Given the description of an element on the screen output the (x, y) to click on. 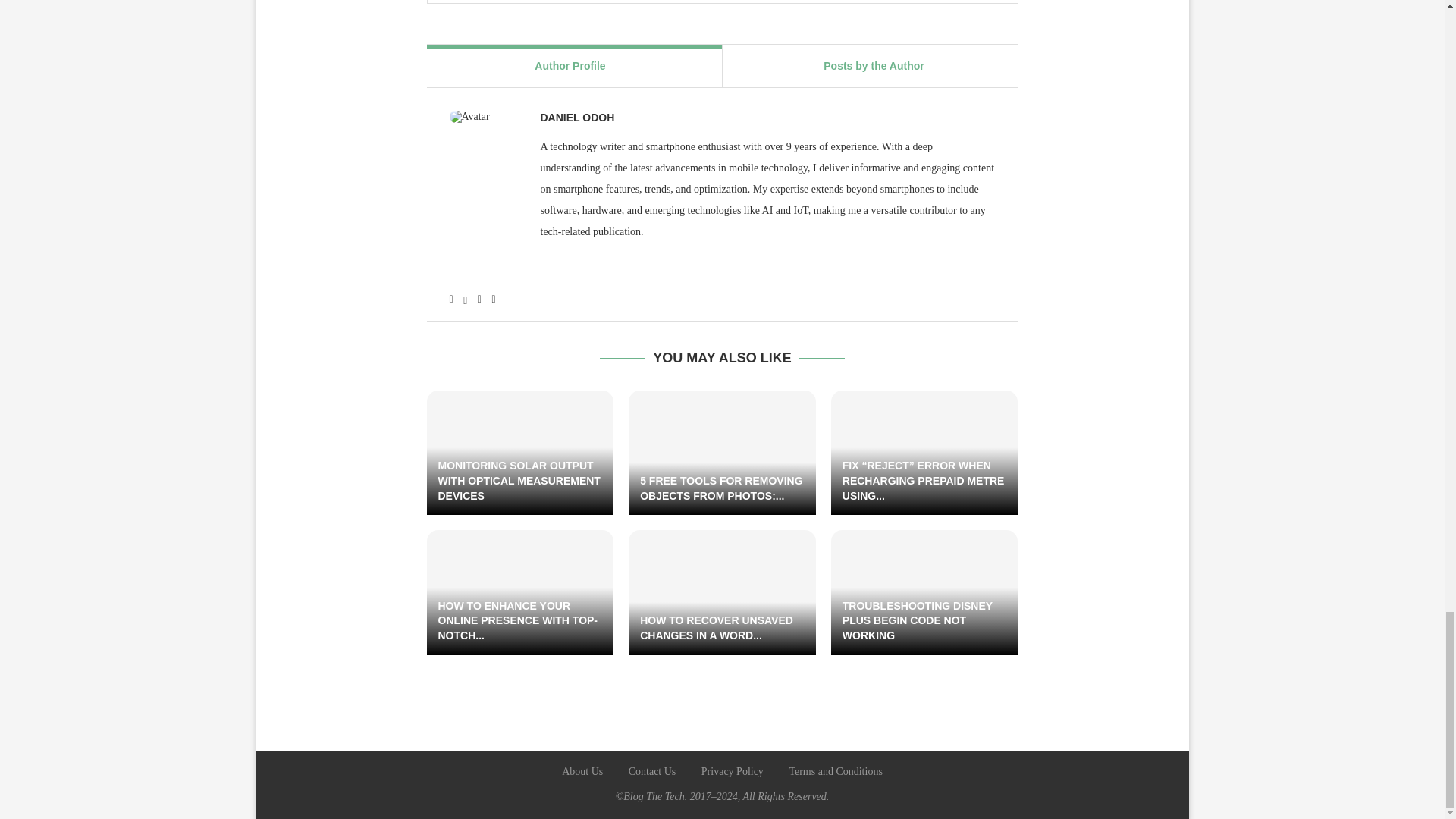
Author Profile (569, 65)
Author Daniel Odoh (577, 117)
Posts by the Author (873, 65)
